Given the description of an element on the screen output the (x, y) to click on. 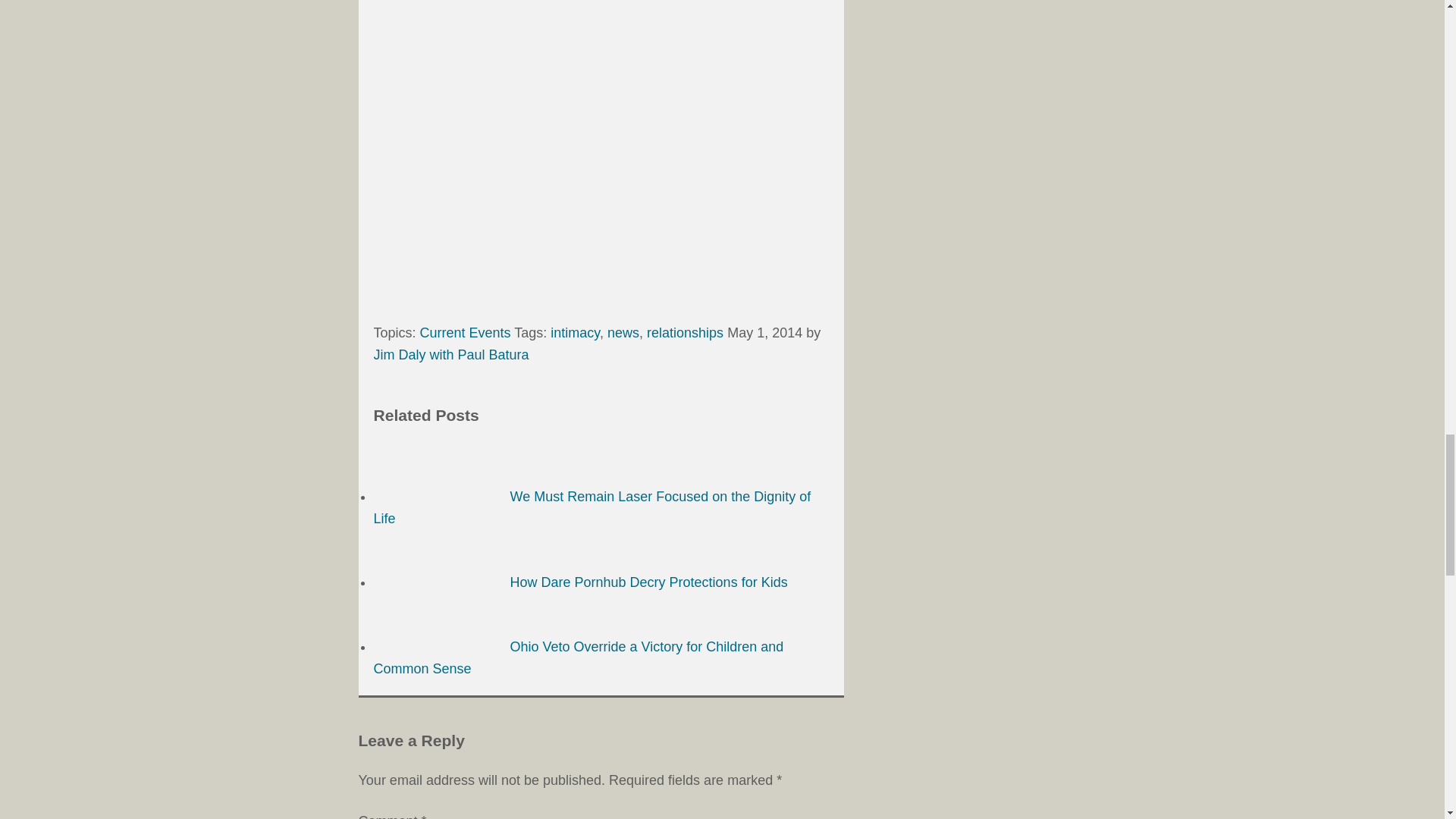
Current Events (465, 332)
How Dare Pornhub Decry Protections for Kids (579, 581)
We Must Remain Laser Focused on the Dignity of Life (591, 507)
Jim Daly with Paul Batura (450, 354)
intimacy (574, 332)
Ohio Veto Override a Victory for Children and Common Sense (577, 657)
Permanent Link toHow Dare Pornhub Decry Protections for Kids (579, 581)
news (623, 332)
relationships (684, 332)
